Given the description of an element on the screen output the (x, y) to click on. 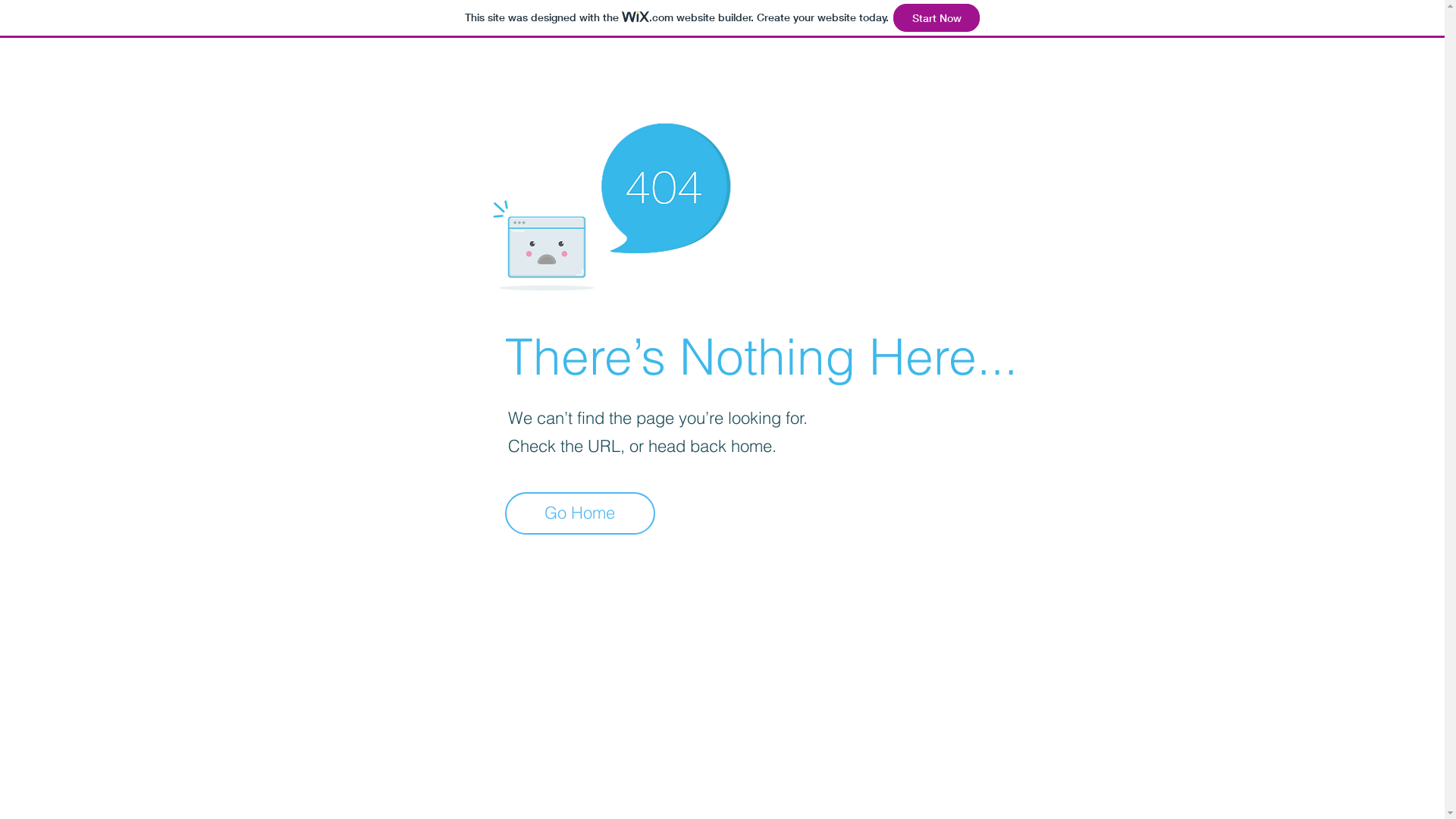
404-icon_2.png Element type: hover (610, 202)
Go Home Element type: text (580, 513)
